Given the description of an element on the screen output the (x, y) to click on. 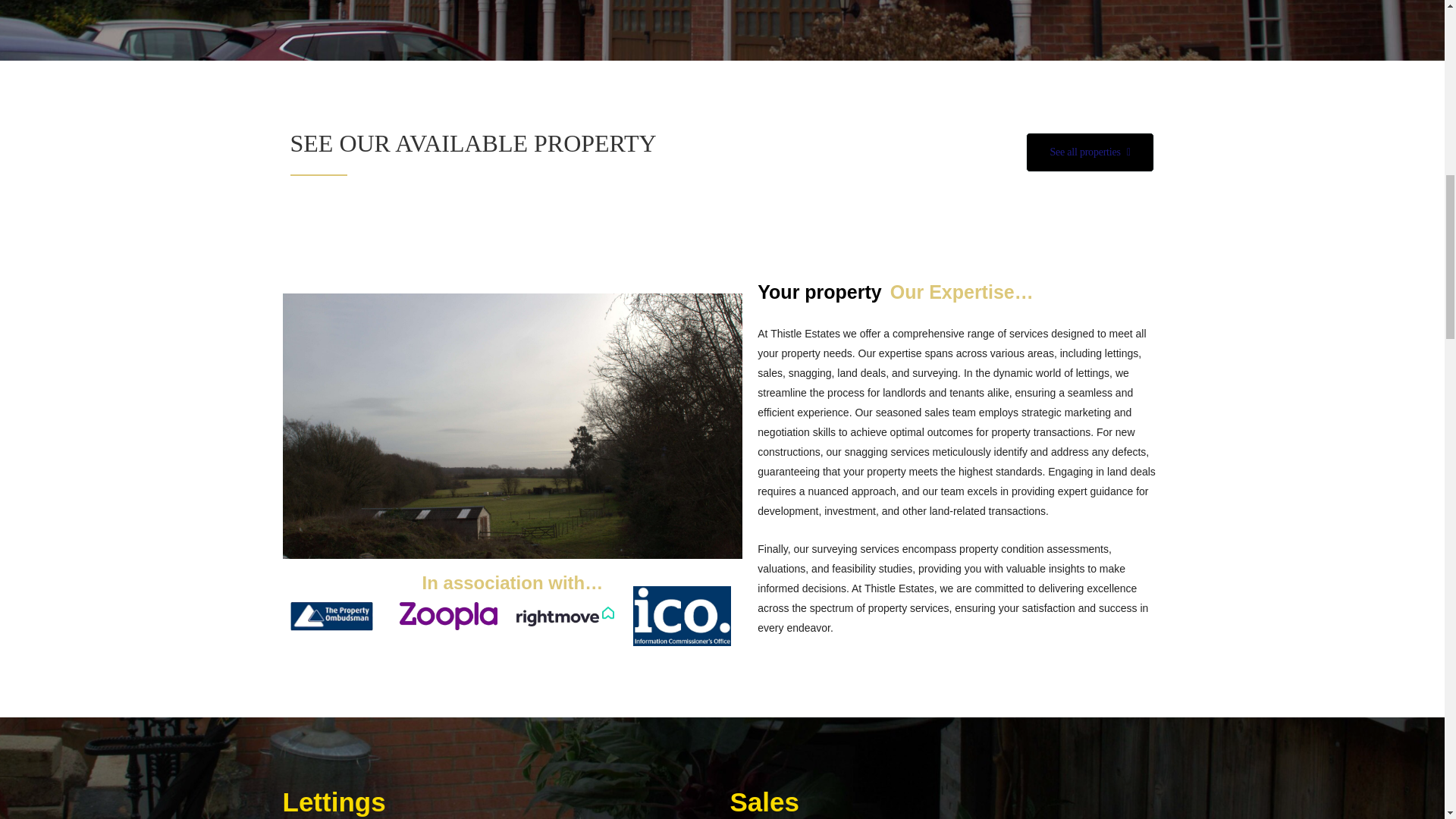
See all properties (1089, 151)
